Given the description of an element on the screen output the (x, y) to click on. 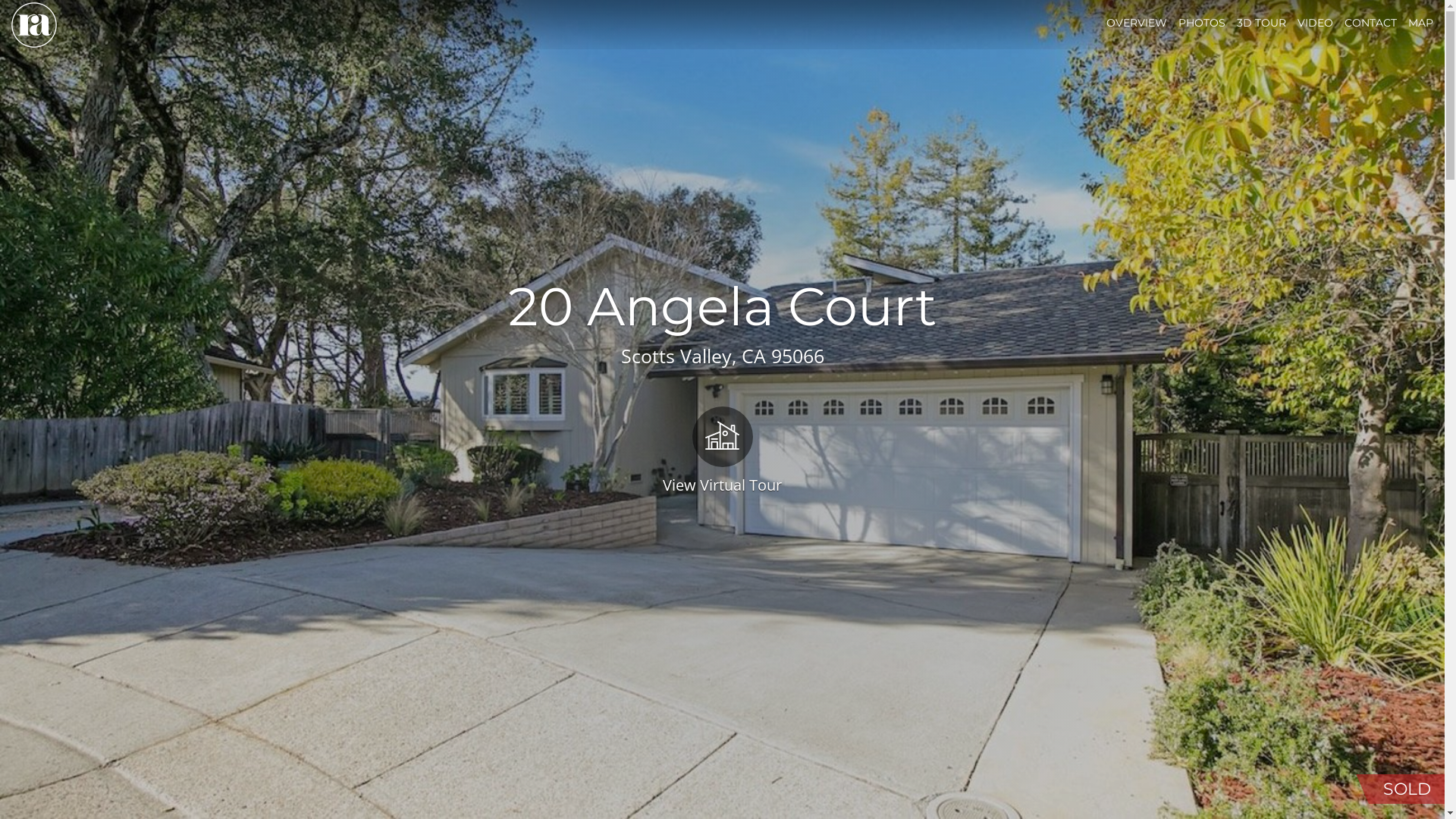
MAP Element type: text (1420, 22)
VIDEO Element type: text (1315, 22)
PHOTOS Element type: text (1201, 22)
3D TOUR Element type: text (1261, 22)
CONTACT Element type: text (1370, 22)
View Virtual Tour Element type: text (722, 448)
OVERVIEW Element type: text (1136, 22)
